Given the description of an element on the screen output the (x, y) to click on. 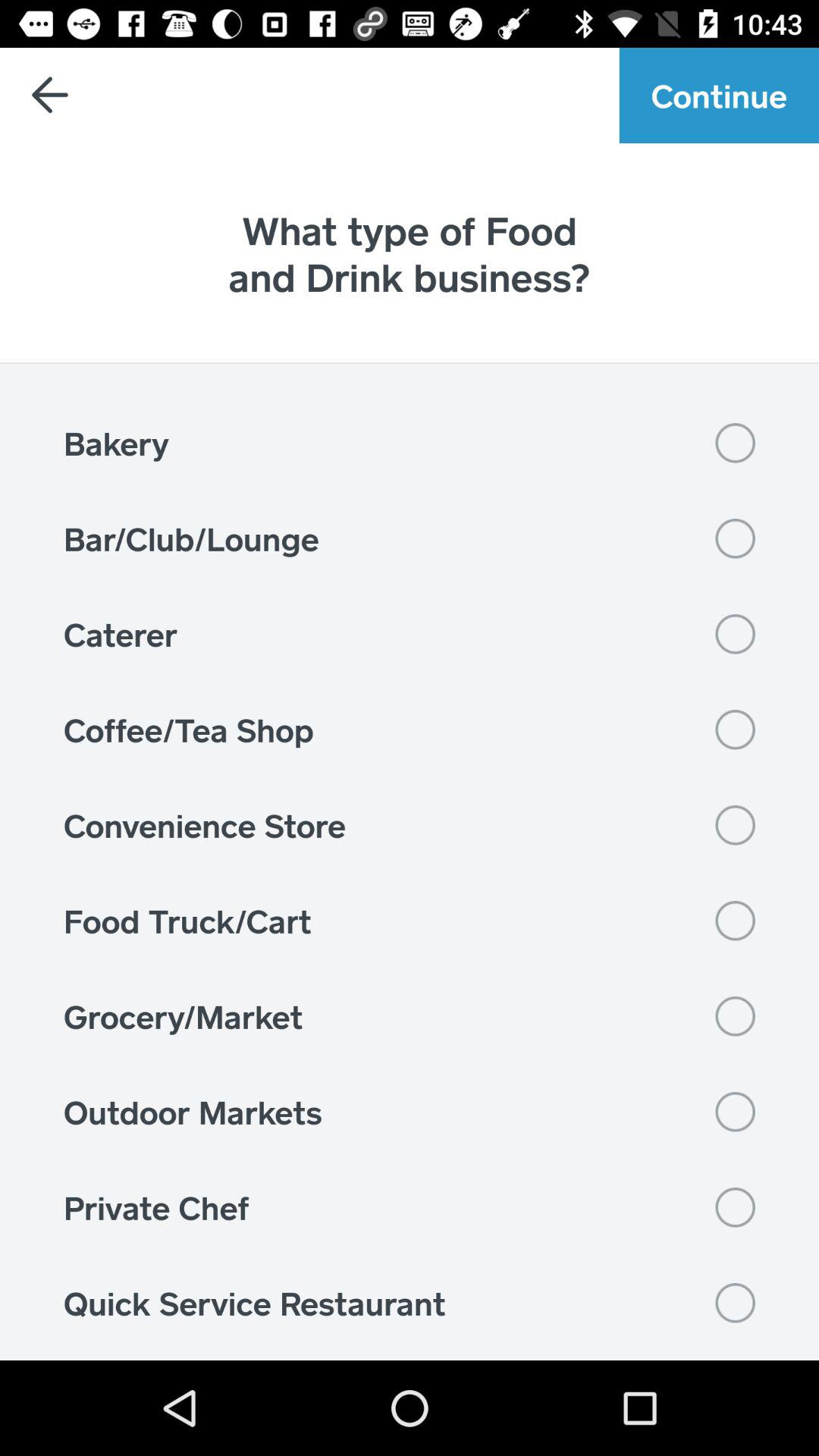
tap food truck/cart (409, 920)
